Given the description of an element on the screen output the (x, y) to click on. 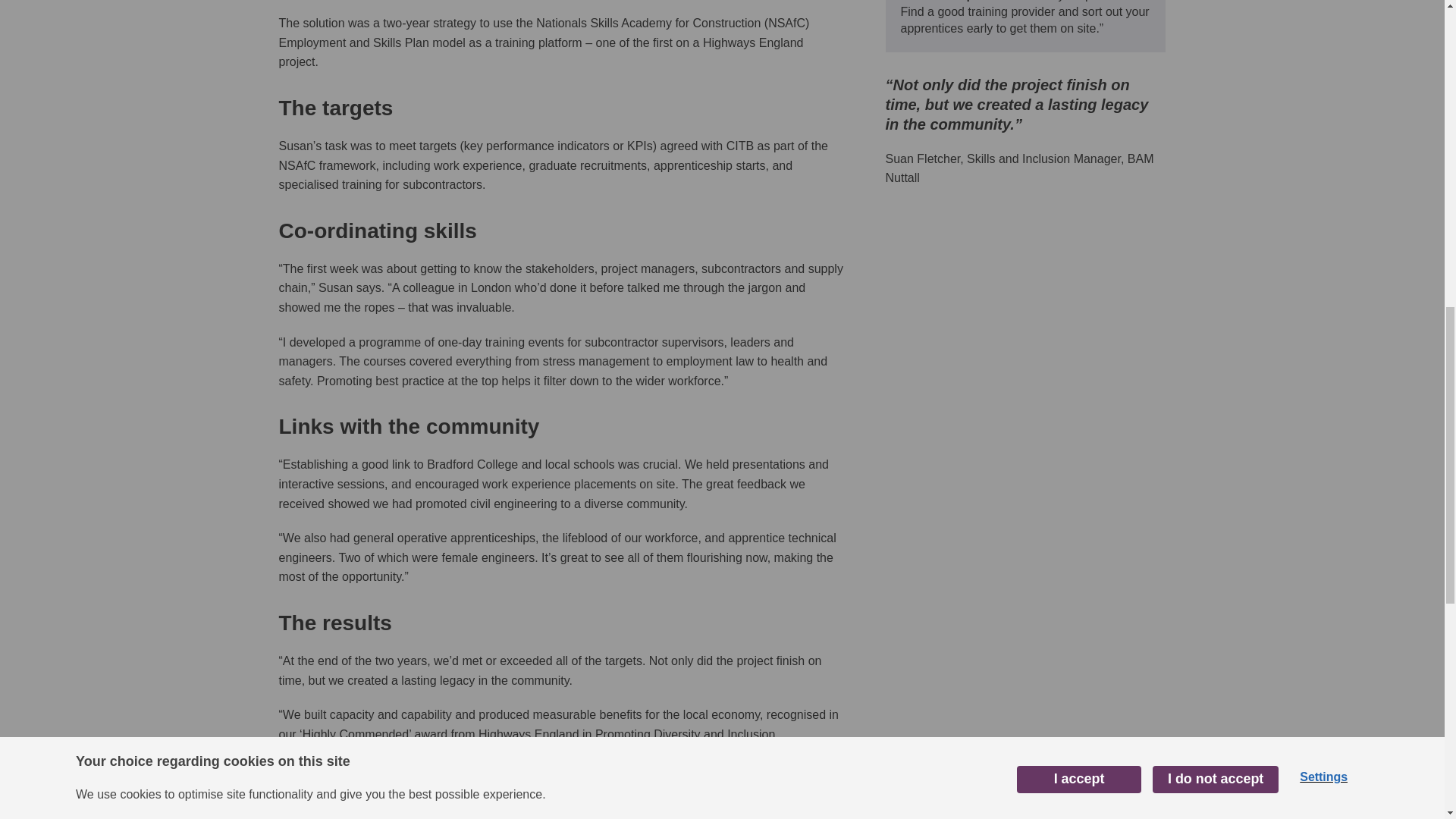
i accept (1078, 7)
i do not accept (1215, 1)
